Given the description of an element on the screen output the (x, y) to click on. 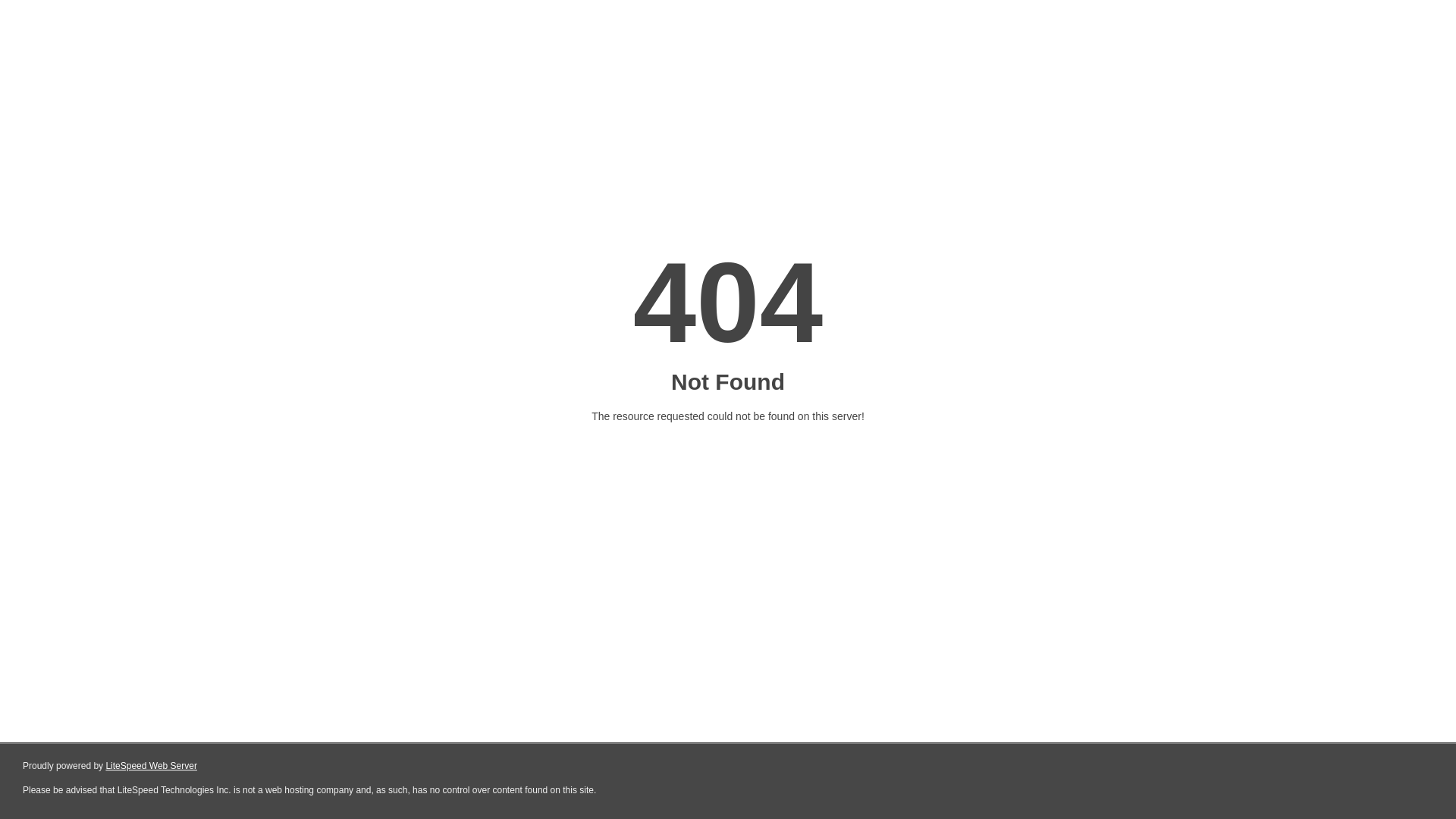
LiteSpeed Web Server Element type: text (151, 765)
